Given the description of an element on the screen output the (x, y) to click on. 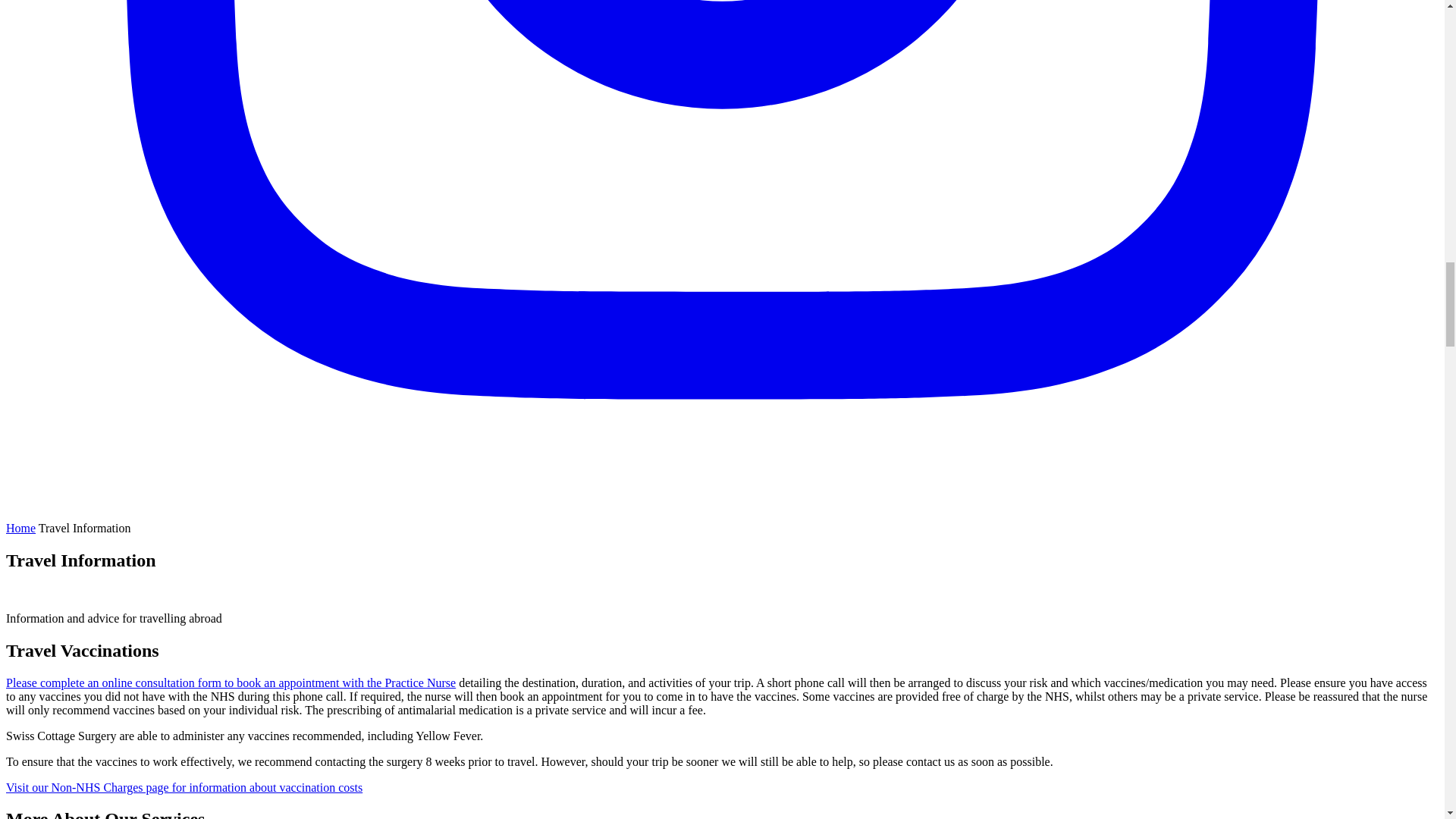
Home (19, 527)
